Given the description of an element on the screen output the (x, y) to click on. 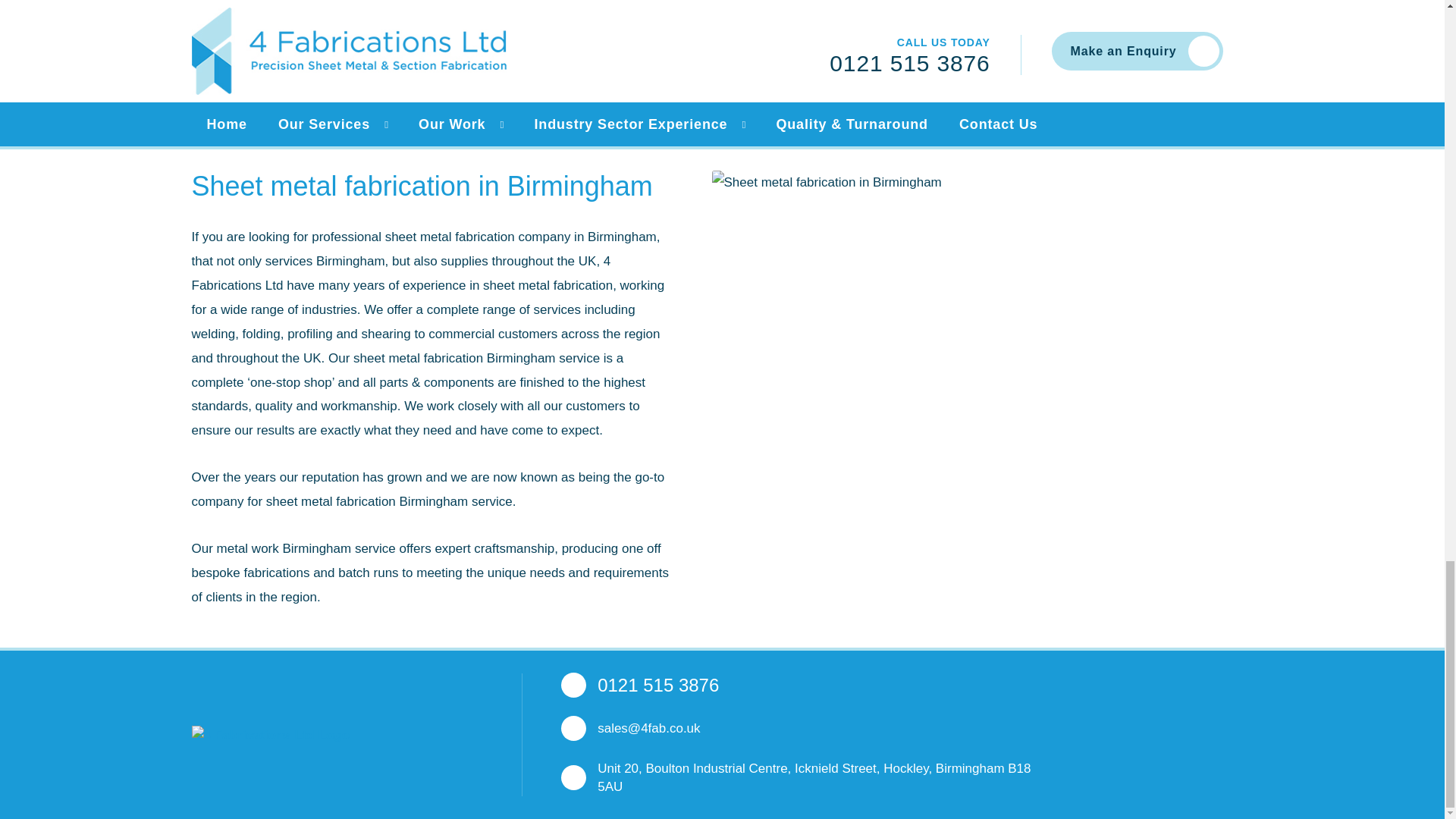
4 Fabrications Ltd (269, 734)
0121 515 3876 (657, 685)
